Given the description of an element on the screen output the (x, y) to click on. 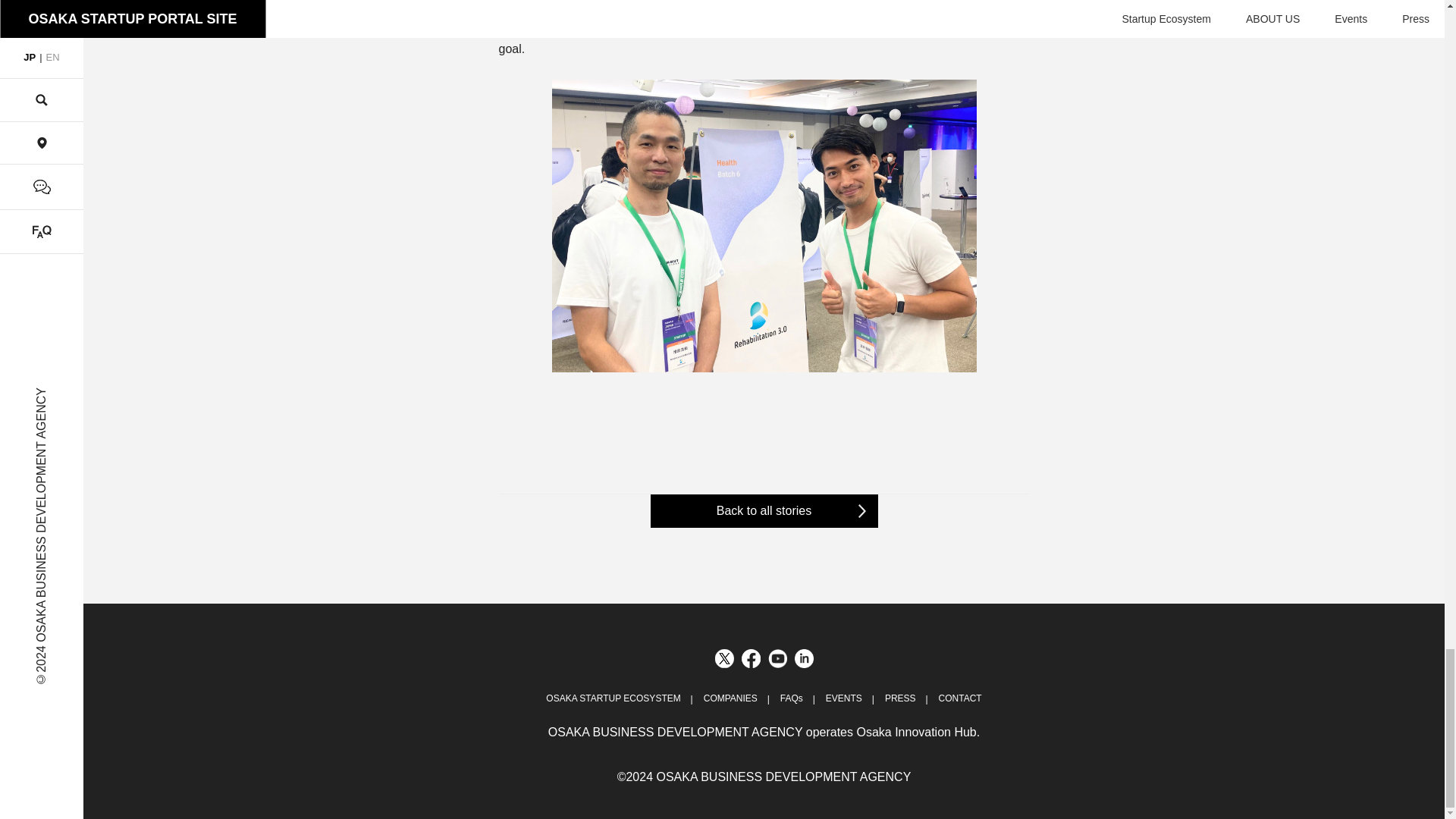
Back to all stories (763, 510)
OSAKA STARTUP ECOSYSTEM (612, 697)
COMPANIES (730, 697)
FAQs (791, 697)
EVENTS (843, 697)
CONTACT (960, 697)
PRESS (900, 697)
